Given the description of an element on the screen output the (x, y) to click on. 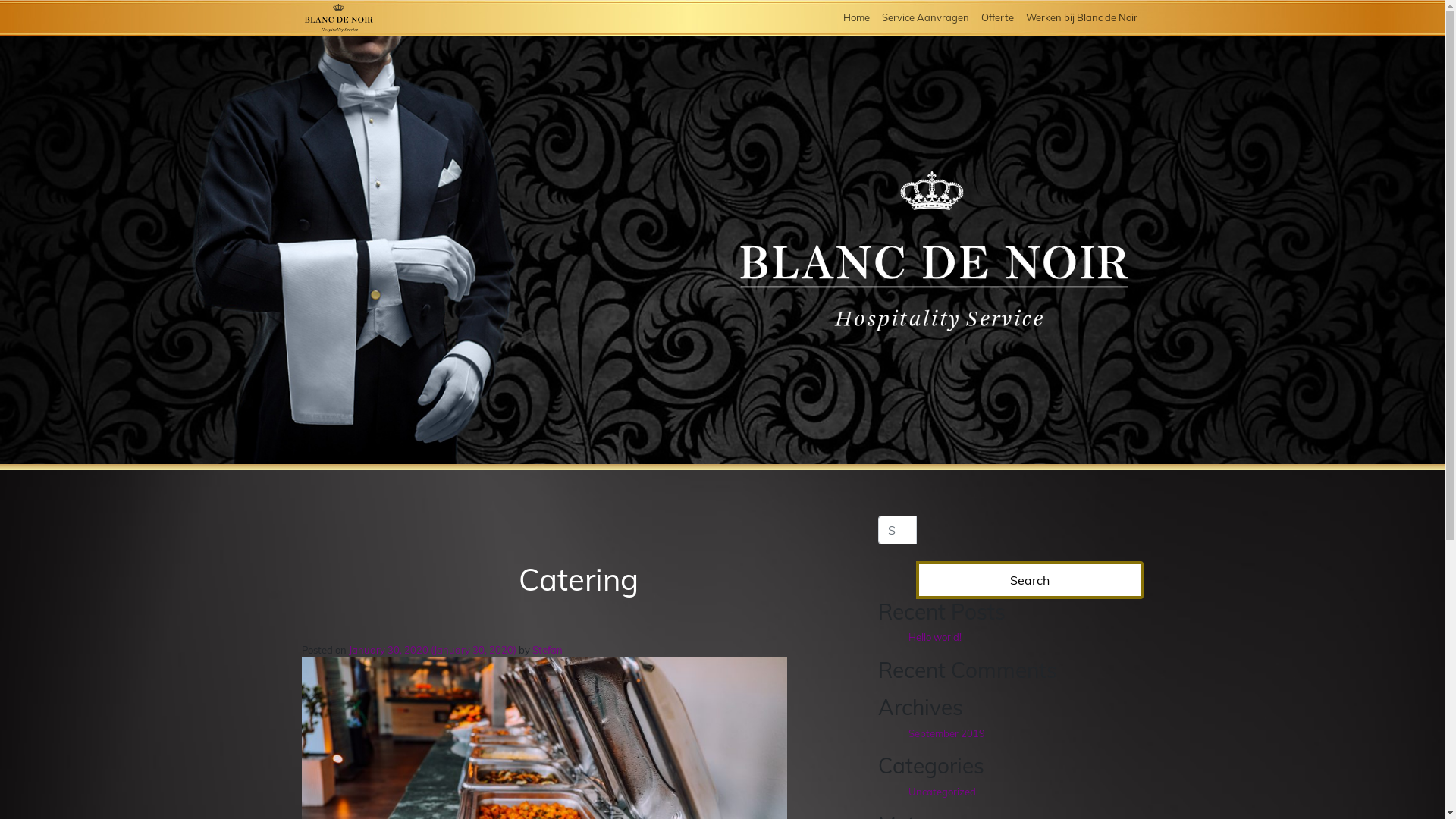
Service Aanvragen Element type: text (924, 17)
September 2019 Element type: text (946, 733)
Home Element type: text (856, 17)
Werken bij Blanc de Noir Element type: text (1080, 17)
January 30, 2020 (January 30, 2020) Element type: text (433, 649)
Stefan Element type: text (547, 649)
Skip to content Element type: text (1443, 0)
Offerte Element type: text (997, 17)
Search Element type: text (1029, 580)
Hello world! Element type: text (934, 636)
Uncategorized Element type: text (941, 791)
